Given the description of an element on the screen output the (x, y) to click on. 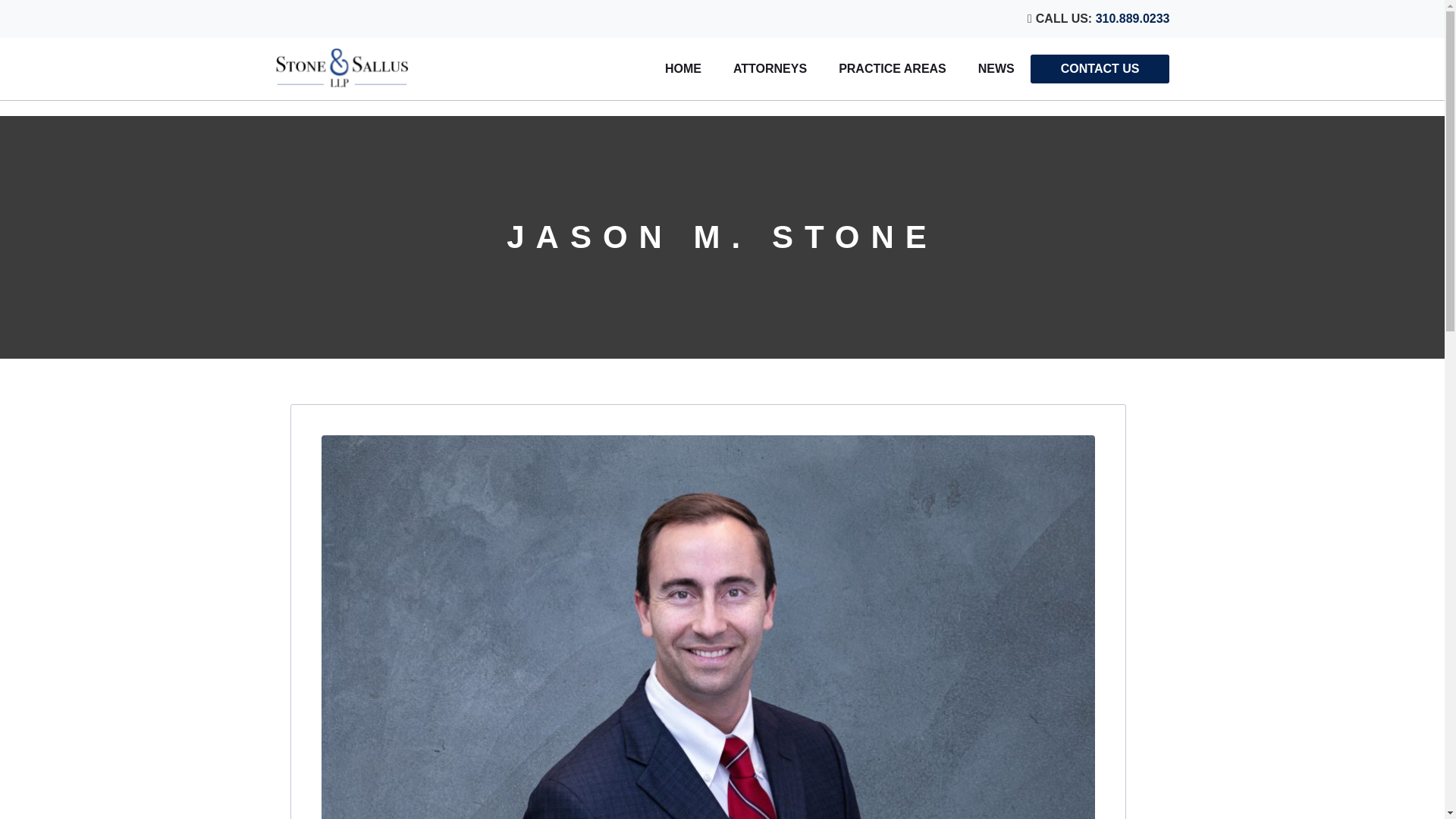
PRACTICE AREAS (892, 68)
CALL US: 310.889.0233 (722, 18)
HOME (683, 68)
ATTORNEYS (769, 68)
